Given the description of an element on the screen output the (x, y) to click on. 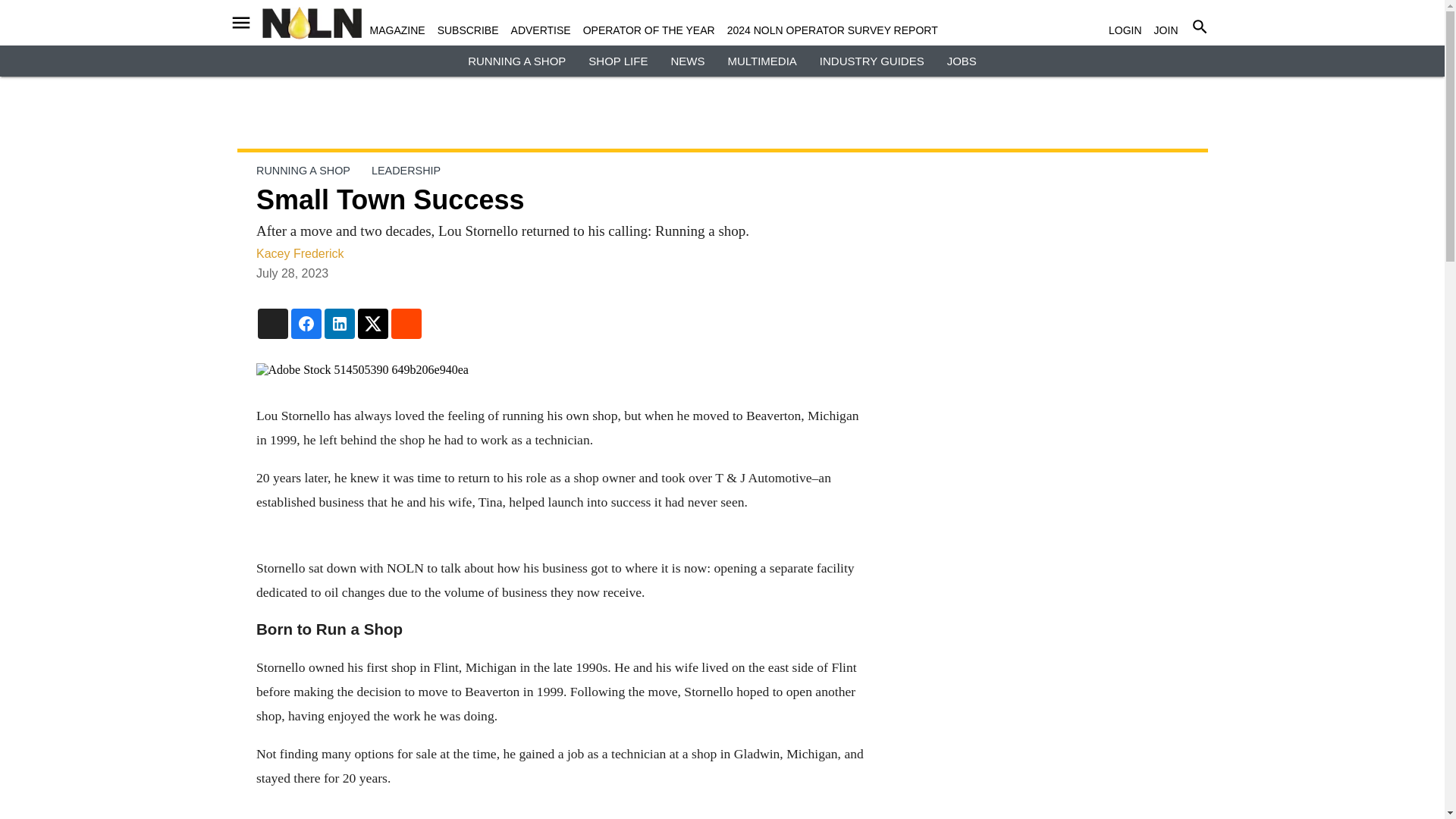
ADVERTISE (540, 30)
INDUSTRY GUIDES (871, 60)
JOBS (961, 60)
MAGAZINE (397, 30)
SUBSCRIBE (468, 30)
RUNNING A SHOP (516, 60)
LOGIN (1124, 30)
SHOP LIFE (617, 60)
NEWS (686, 60)
JOIN (1165, 30)
